Given the description of an element on the screen output the (x, y) to click on. 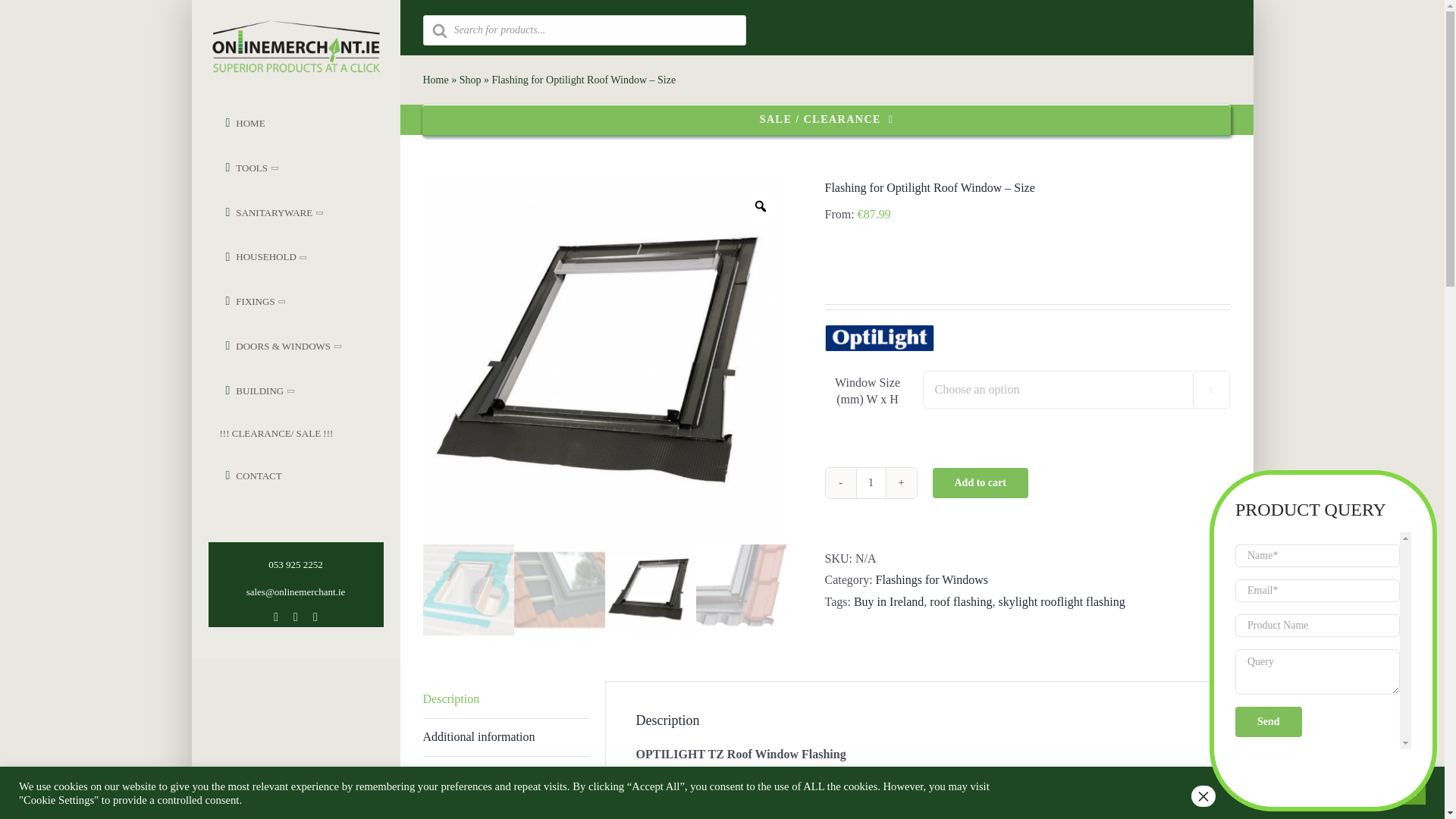
SANITARYWARE (283, 212)
Send (1267, 721)
- (840, 482)
TOOLS (283, 167)
HOME (283, 122)
1 (870, 482)
Products search (826, 27)
